Given the description of an element on the screen output the (x, y) to click on. 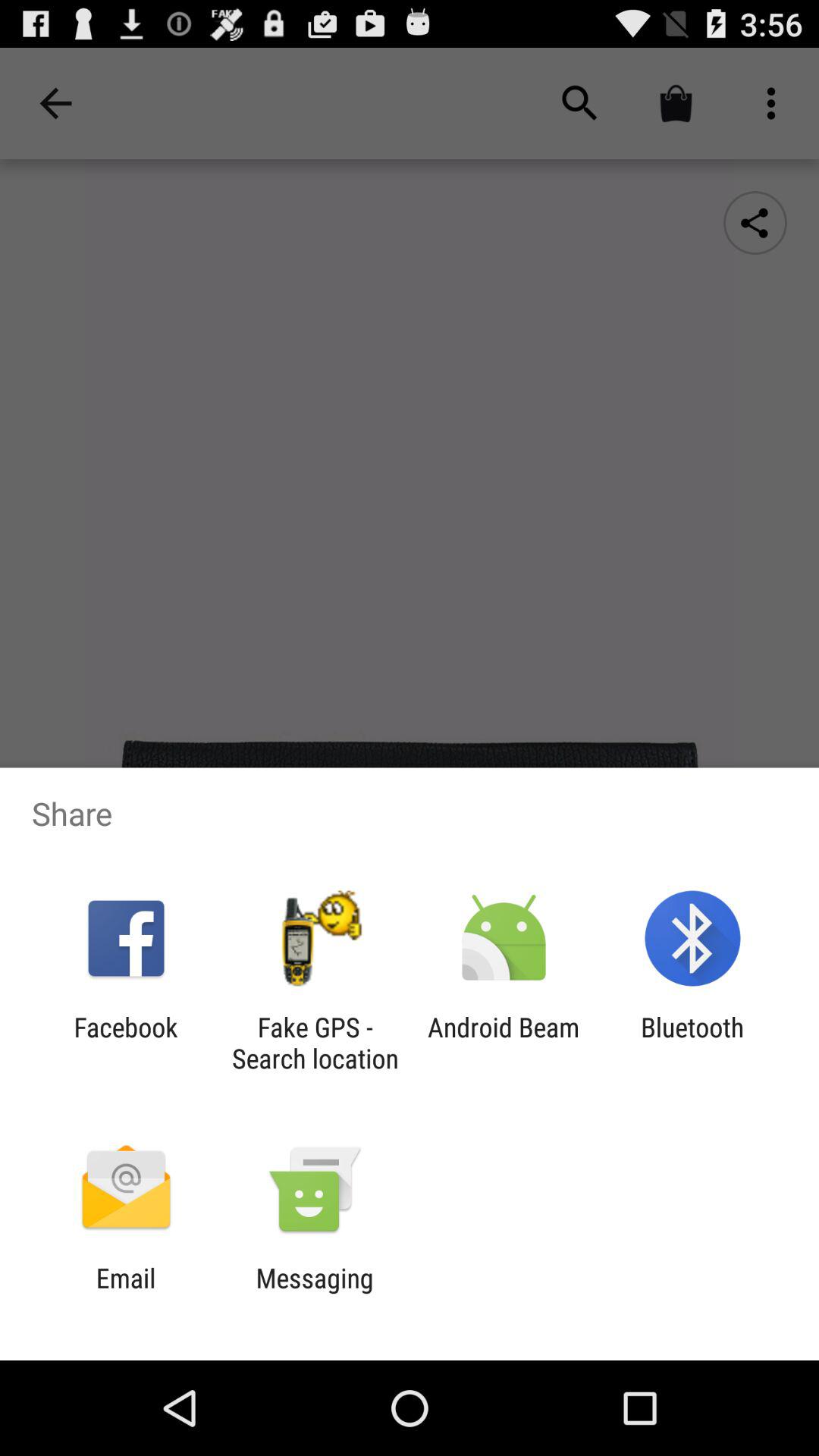
press the app next to the android beam app (691, 1042)
